Given the description of an element on the screen output the (x, y) to click on. 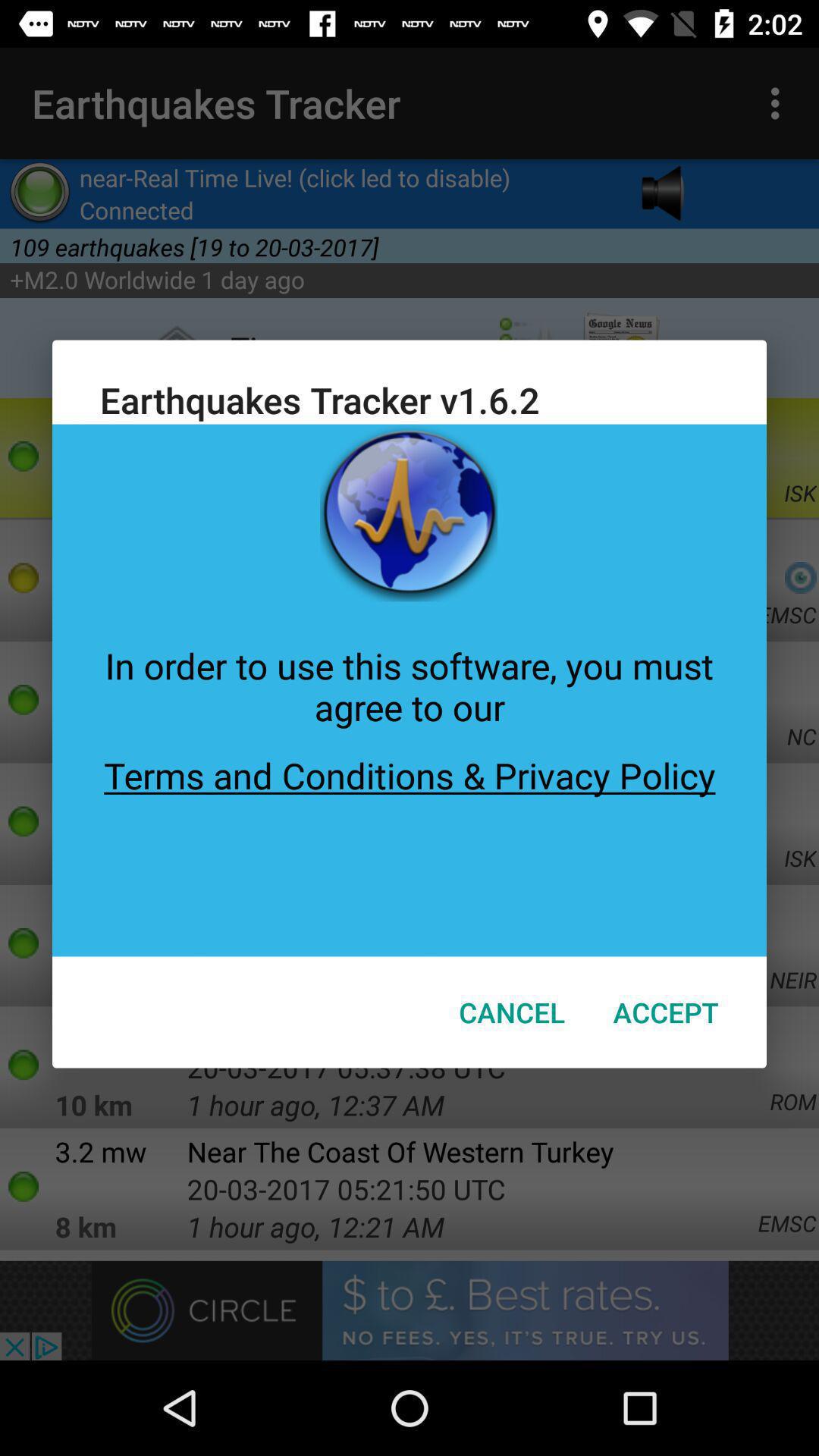
launch the icon below terms and conditions item (512, 1012)
